Given the description of an element on the screen output the (x, y) to click on. 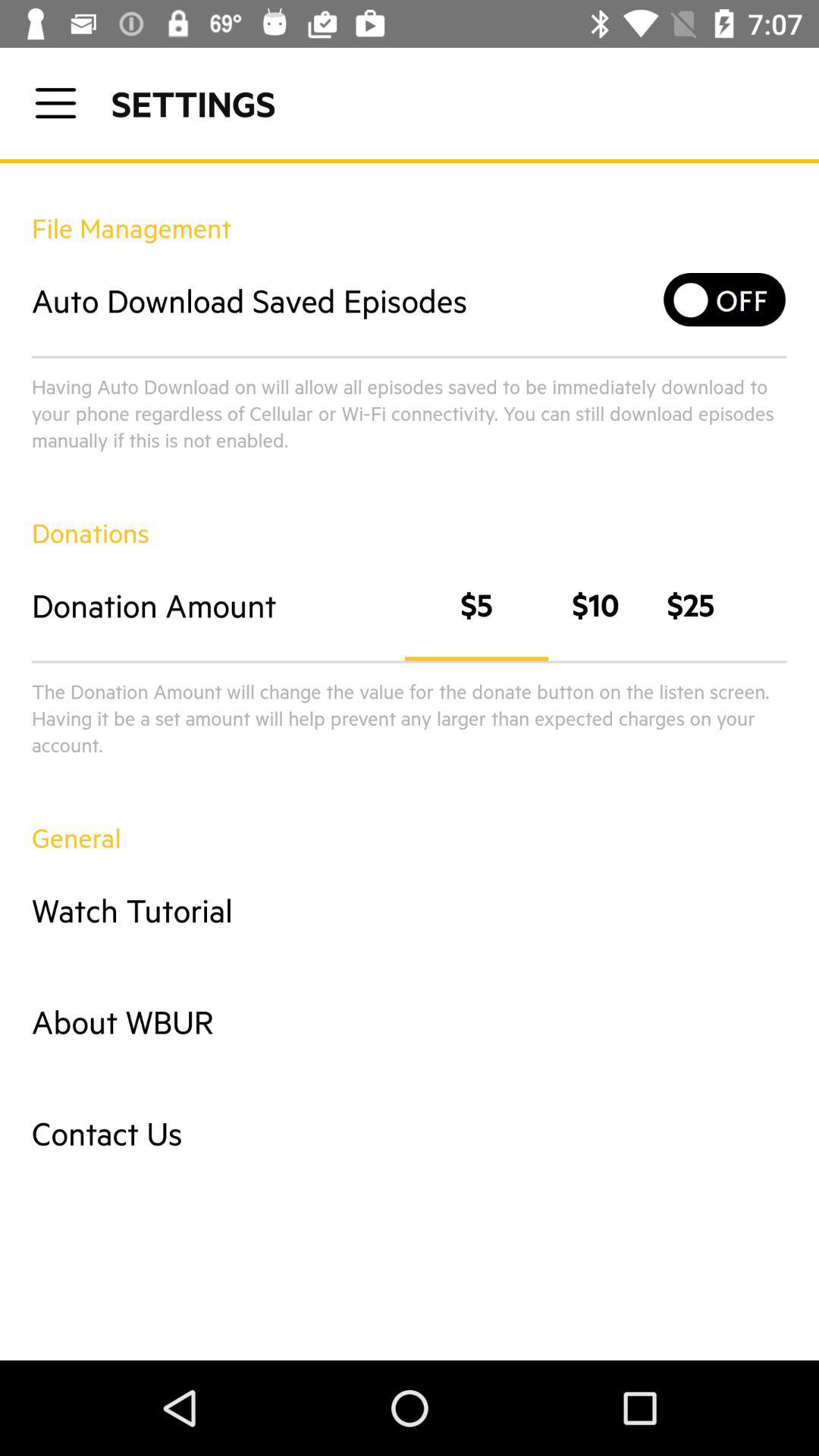
open item above the about wbur icon (409, 909)
